Given the description of an element on the screen output the (x, y) to click on. 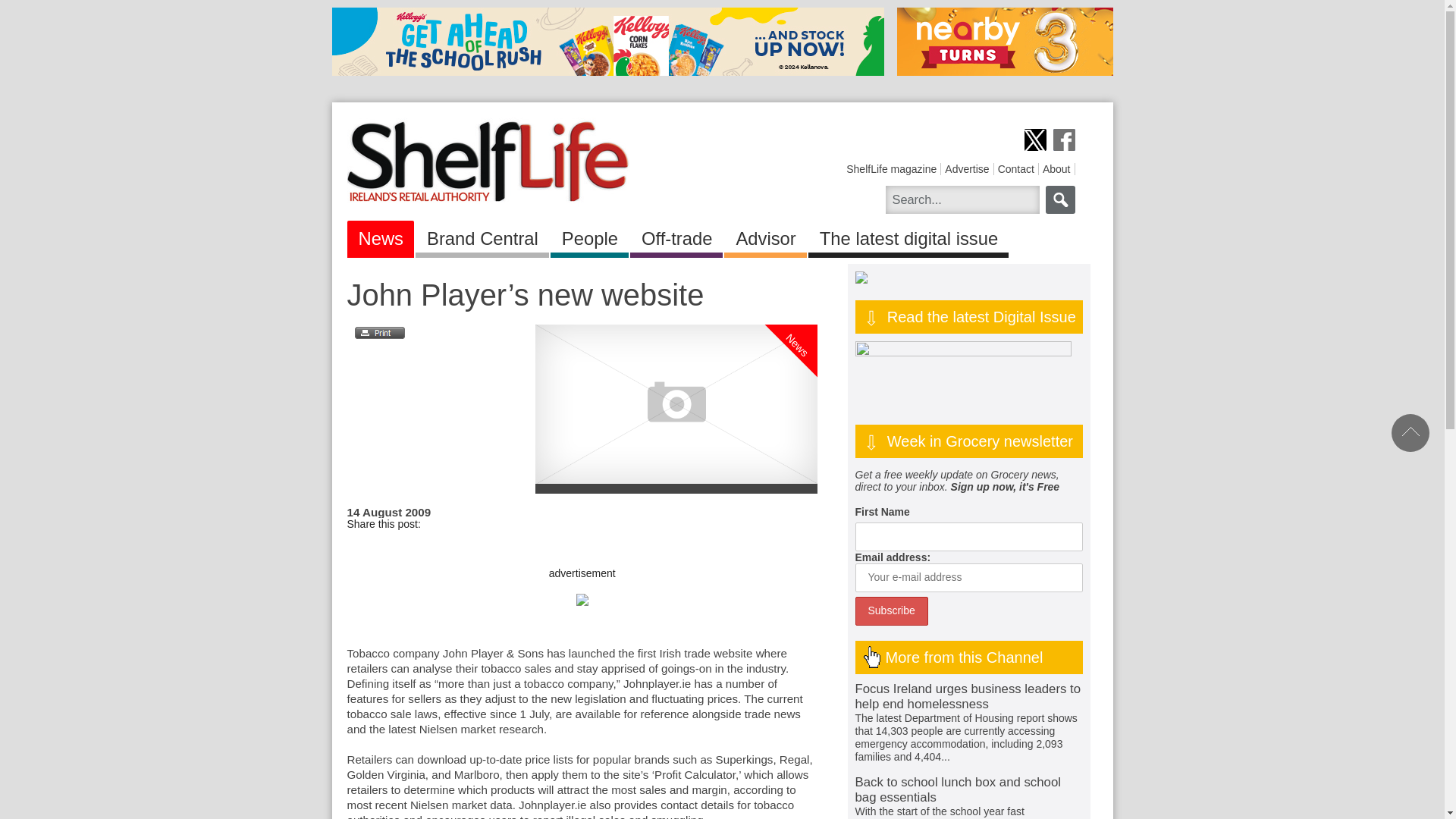
News (813, 282)
Subscribe (892, 611)
Advisor (764, 236)
Contact (1015, 168)
Follow on Twitter (1034, 139)
Search... (962, 199)
People (589, 236)
About (1056, 168)
Brand Central (481, 236)
The latest digital issue (908, 236)
Search... (962, 199)
Like on Facebook (1063, 139)
Advertise (966, 168)
Off-trade (676, 236)
News (380, 236)
